Given the description of an element on the screen output the (x, y) to click on. 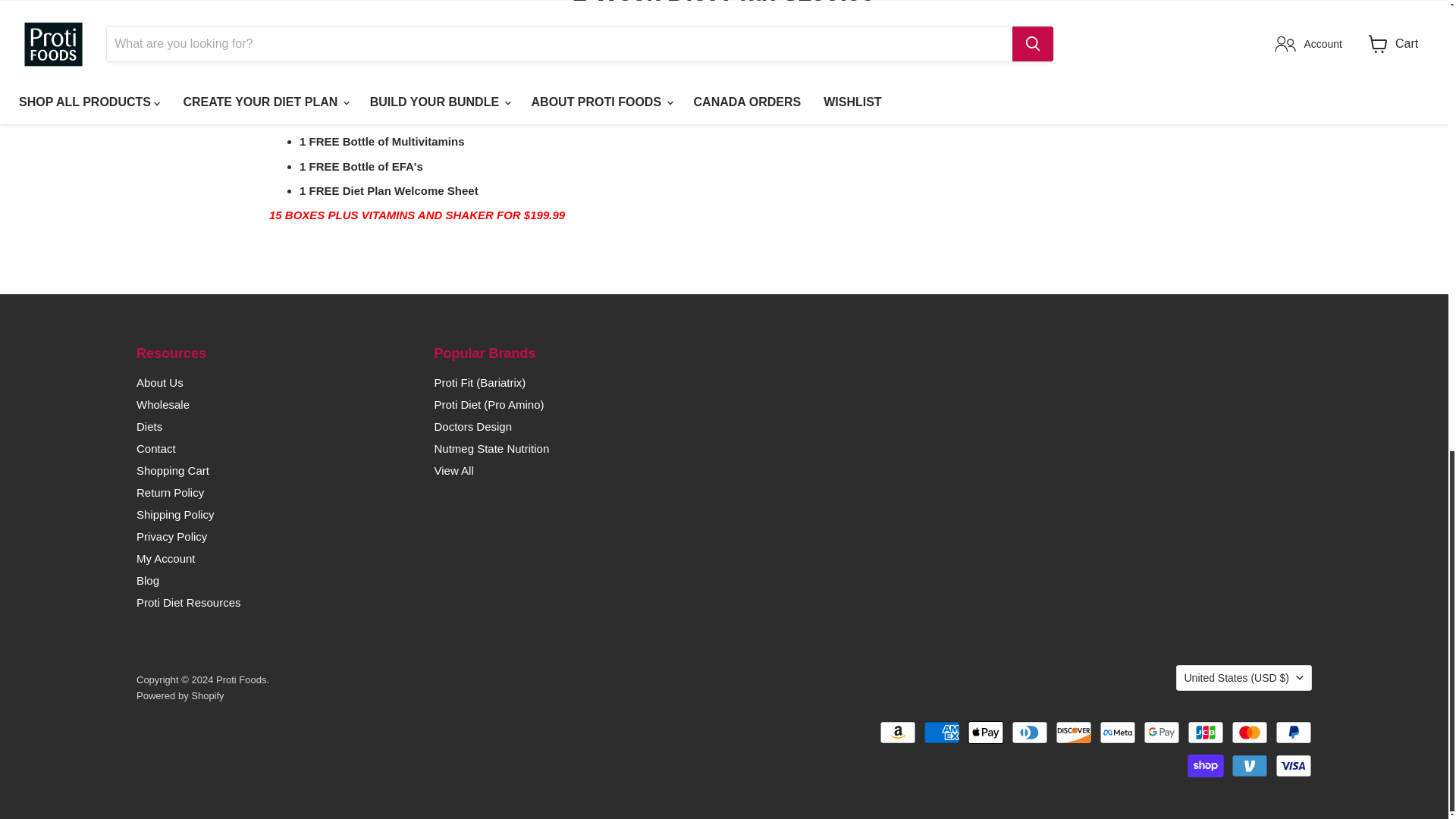
Meta Pay (1117, 732)
American Express (941, 732)
PayPal (1293, 732)
Amazon (897, 732)
Discover (1073, 732)
Apple Pay (986, 732)
Diners Club (1029, 732)
Google Pay (1160, 732)
Mastercard (1249, 732)
JCB (1206, 732)
